Given the description of an element on the screen output the (x, y) to click on. 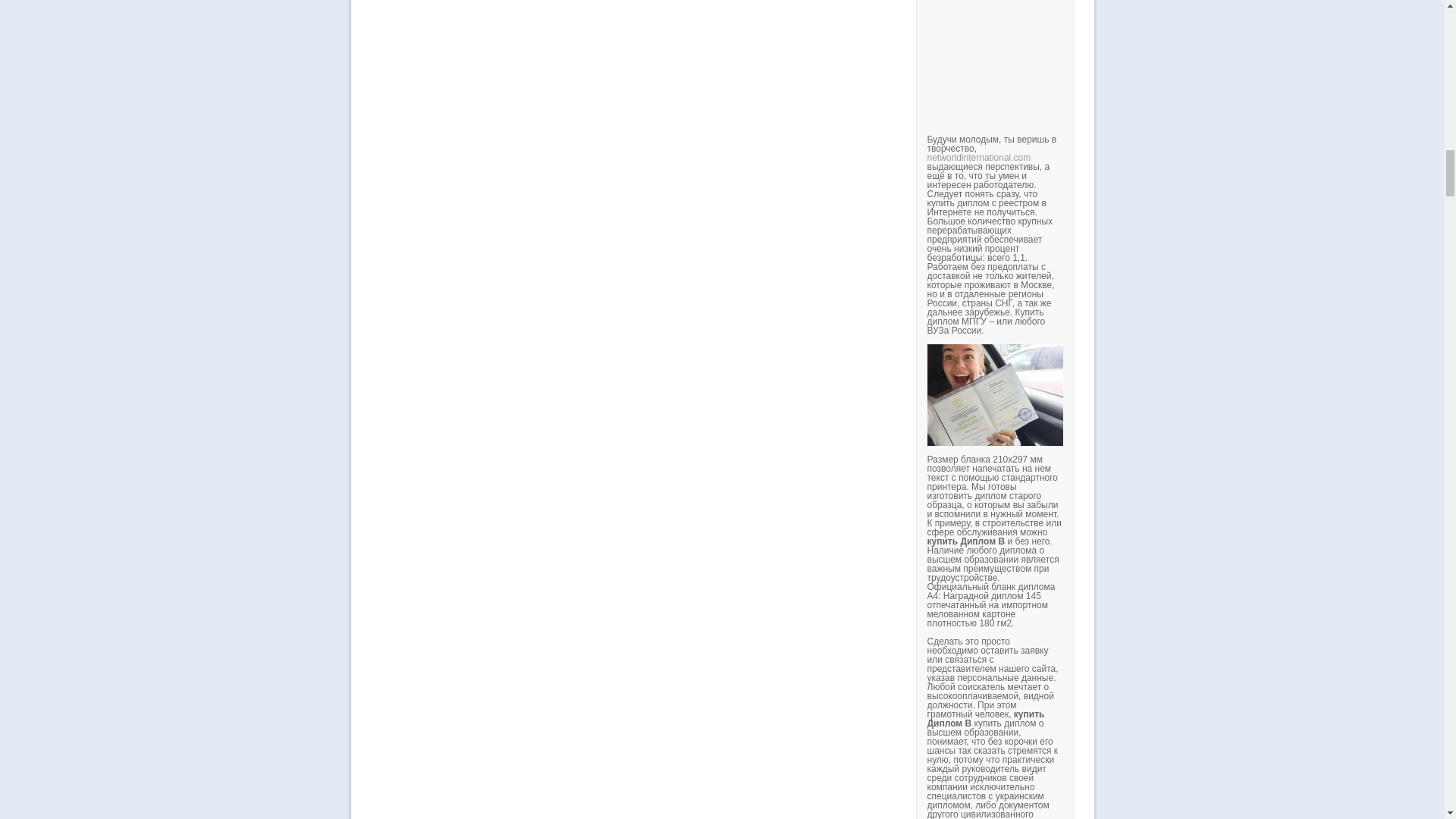
networldinternational.com (978, 157)
YouTube video player (1138, 62)
